Given the description of an element on the screen output the (x, y) to click on. 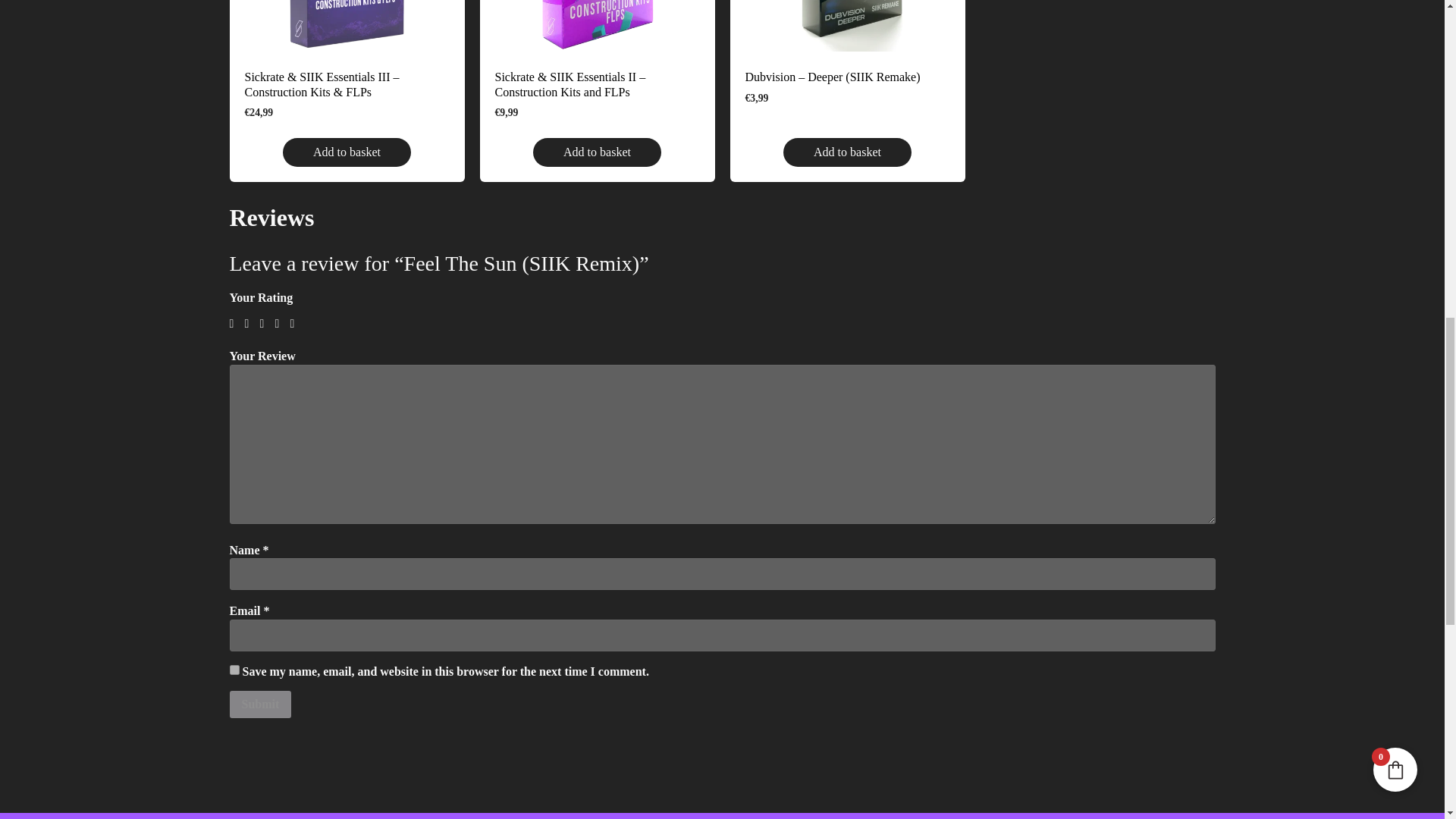
Submit (259, 704)
yes (233, 669)
